Given the description of an element on the screen output the (x, y) to click on. 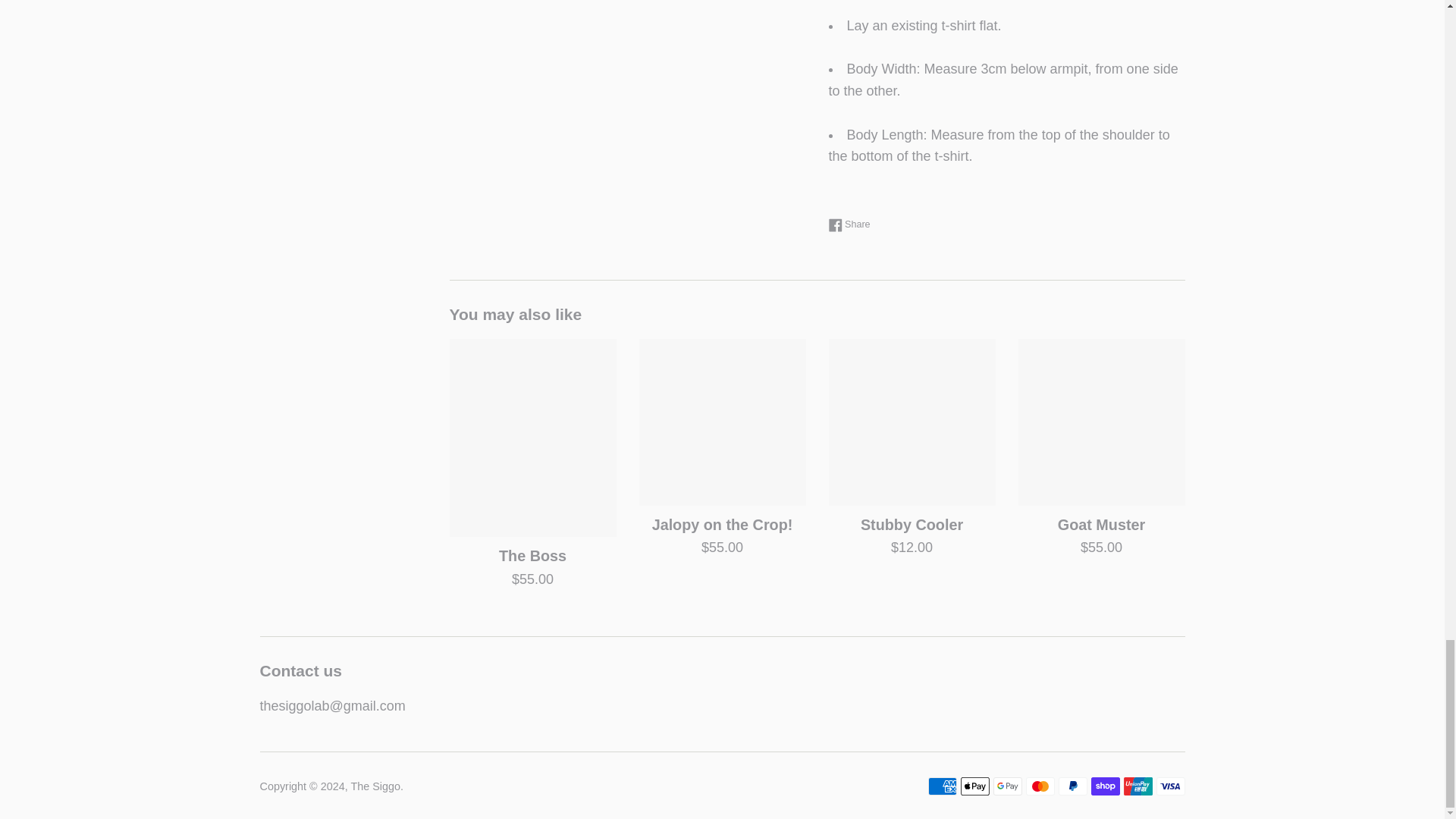
Visa (1170, 786)
PayPal (1072, 786)
Share on Facebook (848, 224)
The Siggo (375, 786)
Shop Pay (1104, 786)
Jalopy on the Crop! (722, 422)
Jalopy on the Crop! (722, 524)
Apple Pay (973, 786)
Google Pay (1007, 786)
American Express (942, 786)
